Given the description of an element on the screen output the (x, y) to click on. 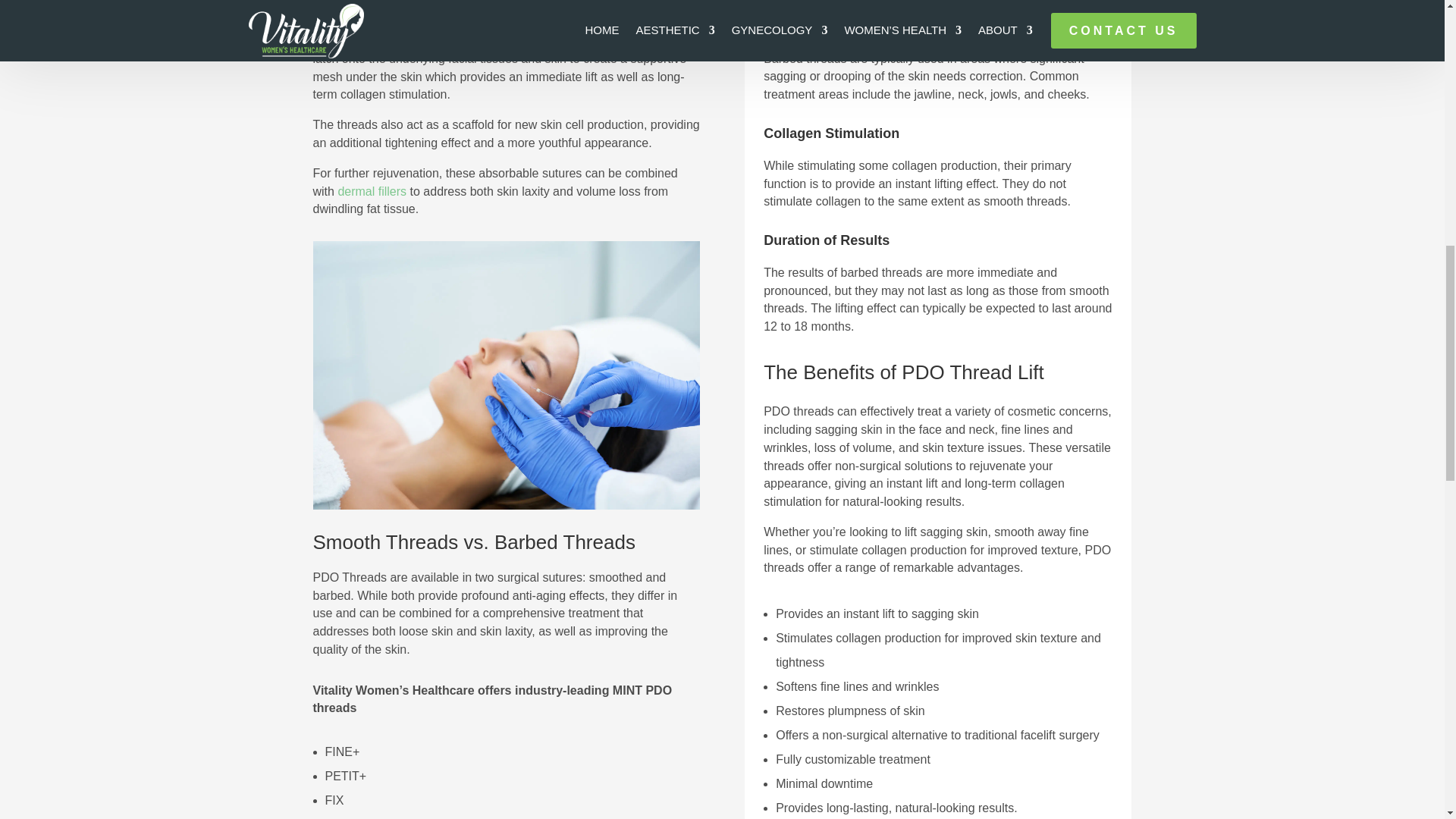
89nbb (505, 505)
